Given the description of an element on the screen output the (x, y) to click on. 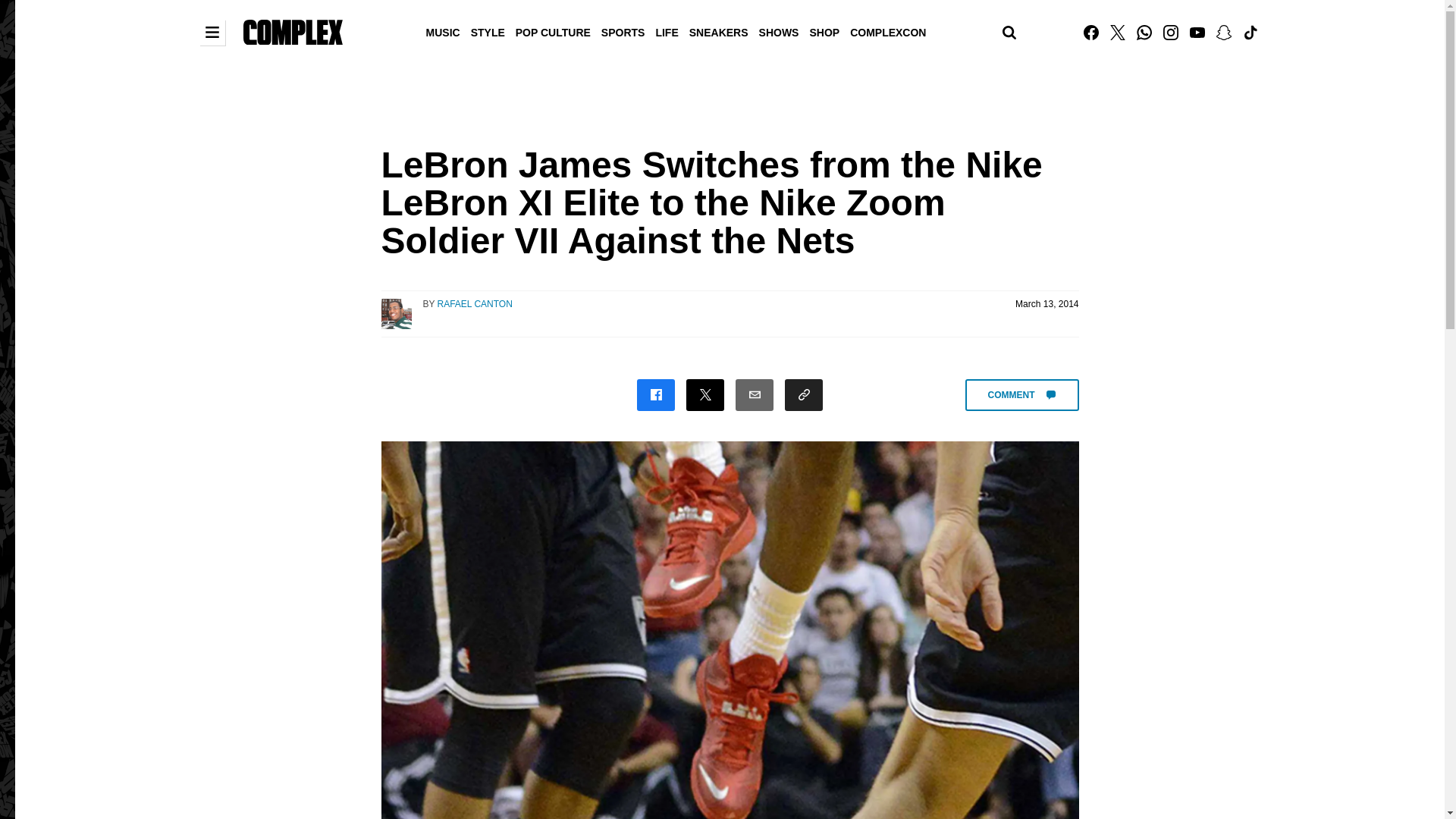
MUSIC (442, 30)
POP CULTURE (553, 30)
SHOP (823, 30)
SNEAKERS (719, 30)
COMPLEXCON (887, 30)
STYLE (488, 30)
LIFE (665, 30)
SPORTS (622, 30)
SHOWS (779, 30)
